Given the description of an element on the screen output the (x, y) to click on. 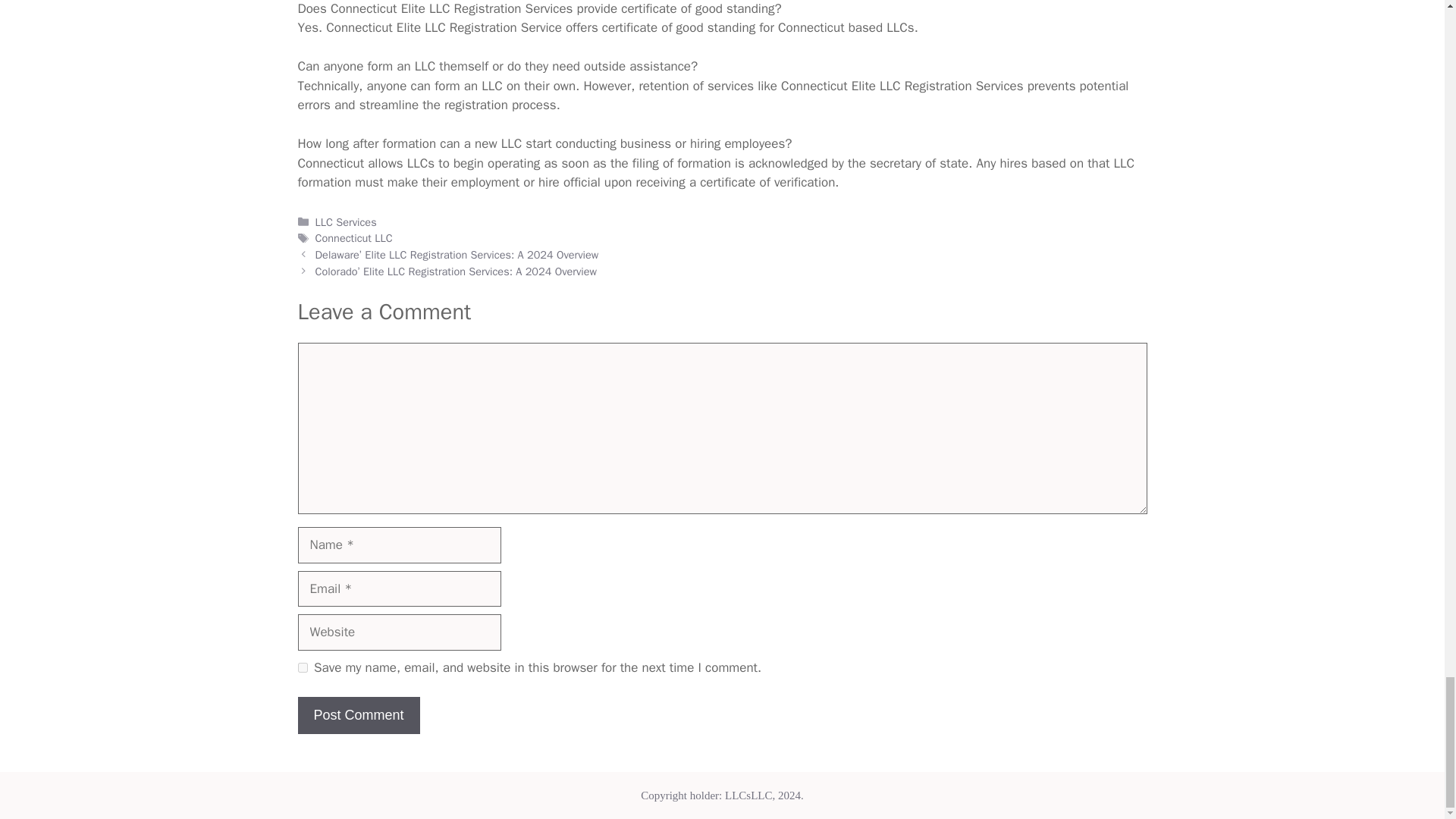
LLC Services (346, 222)
Post Comment (358, 714)
yes (302, 667)
Connecticut LLC (354, 237)
